Given the description of an element on the screen output the (x, y) to click on. 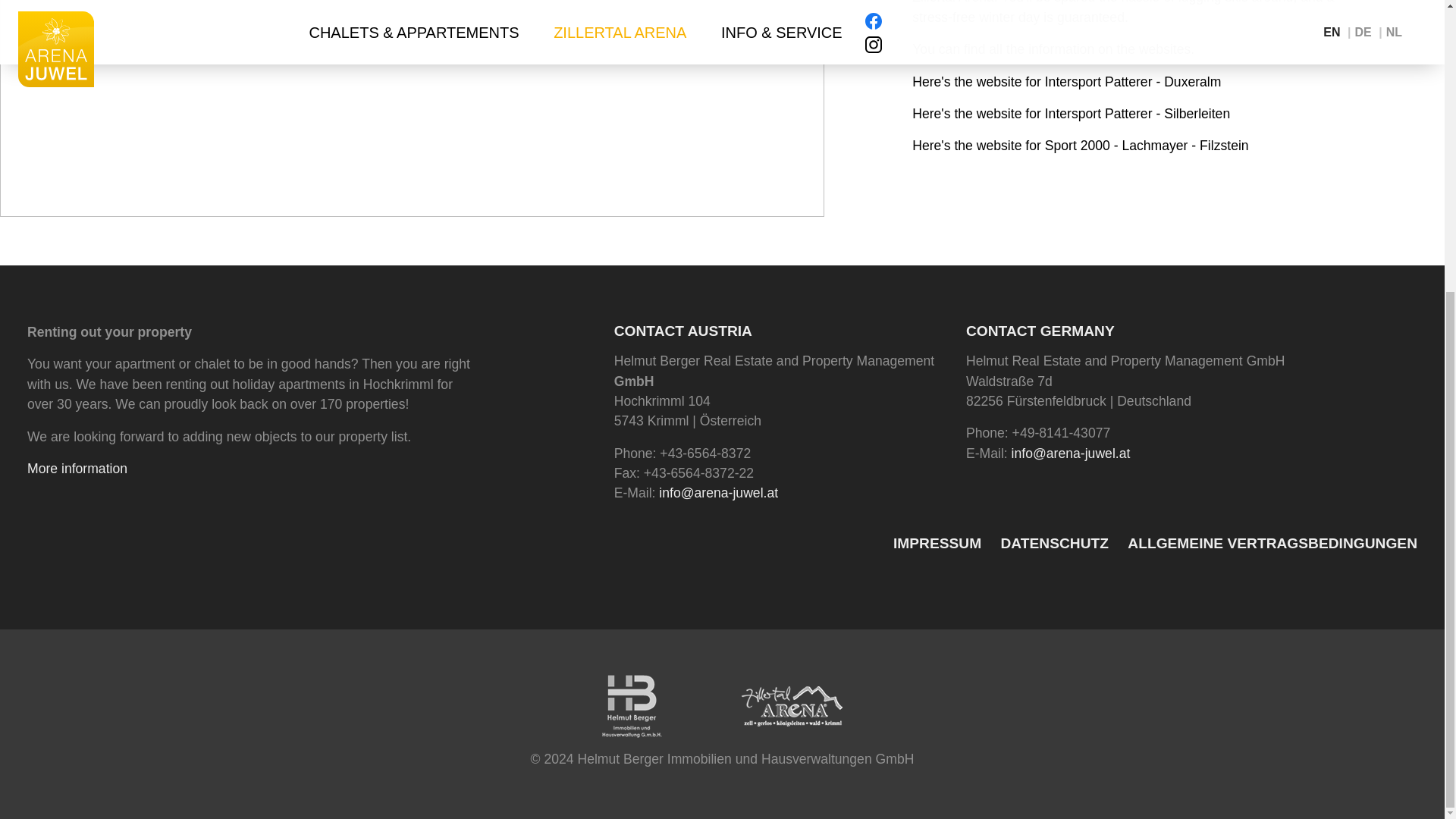
Allgemeine Vertragsbedingungen (1271, 544)
Here's the website for Intersport Patterer - Duxeralm (1066, 81)
Datenschutz (1054, 544)
ALLGEMEINE VERTRAGSBEDINGUNGEN (1271, 544)
More information (77, 468)
Here's the website for Intersport Patterer - Silberleiten (1071, 113)
Here's the website for Sport 2000 - Lachmayer - Filzstein (1079, 145)
DATENSCHUTZ (1054, 544)
IMPRESSUM (937, 544)
Impressum (937, 544)
